Given the description of an element on the screen output the (x, y) to click on. 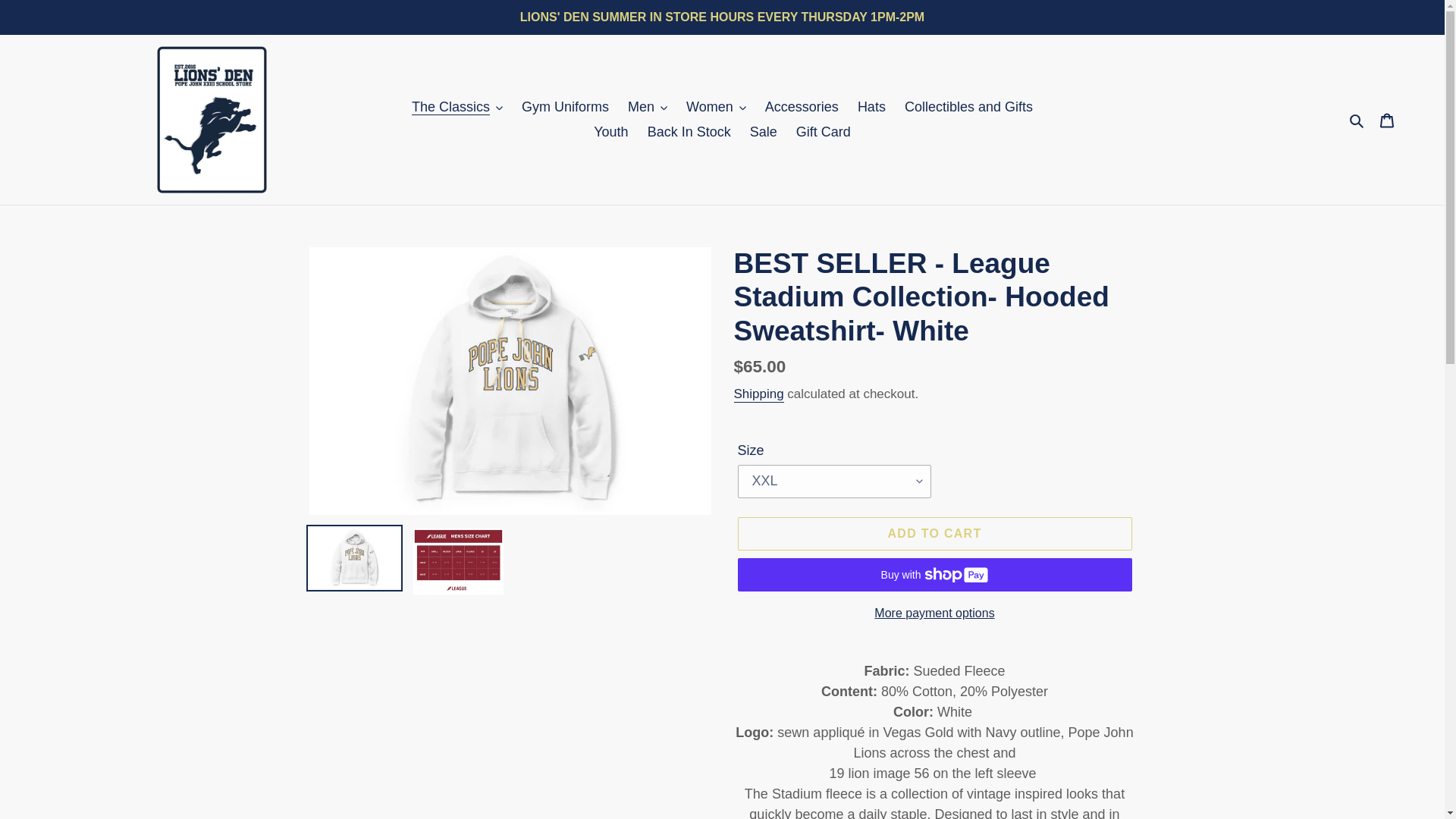
Men (647, 107)
Hats (871, 107)
Gift Card (824, 131)
The Classics (457, 107)
Women (716, 107)
Cart (1387, 119)
Collectibles and Gifts (968, 107)
Accessories (801, 107)
Search (1357, 119)
Sale (763, 131)
Gym Uniforms (564, 107)
Youth (610, 131)
Back In Stock (689, 131)
